Given the description of an element on the screen output the (x, y) to click on. 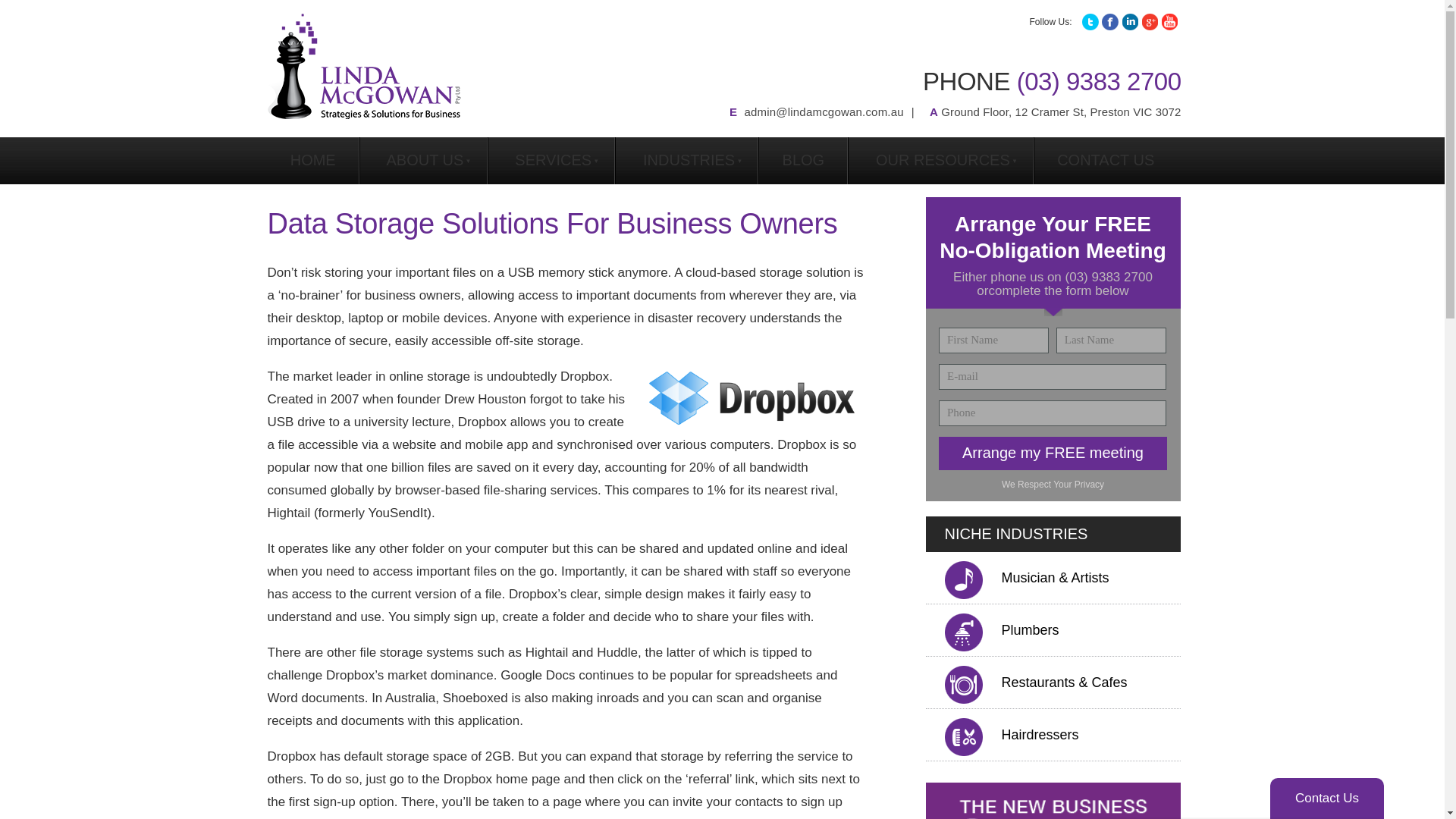
SERVICES (550, 160)
ABOUT US (422, 160)
HOME (312, 160)
